Given the description of an element on the screen output the (x, y) to click on. 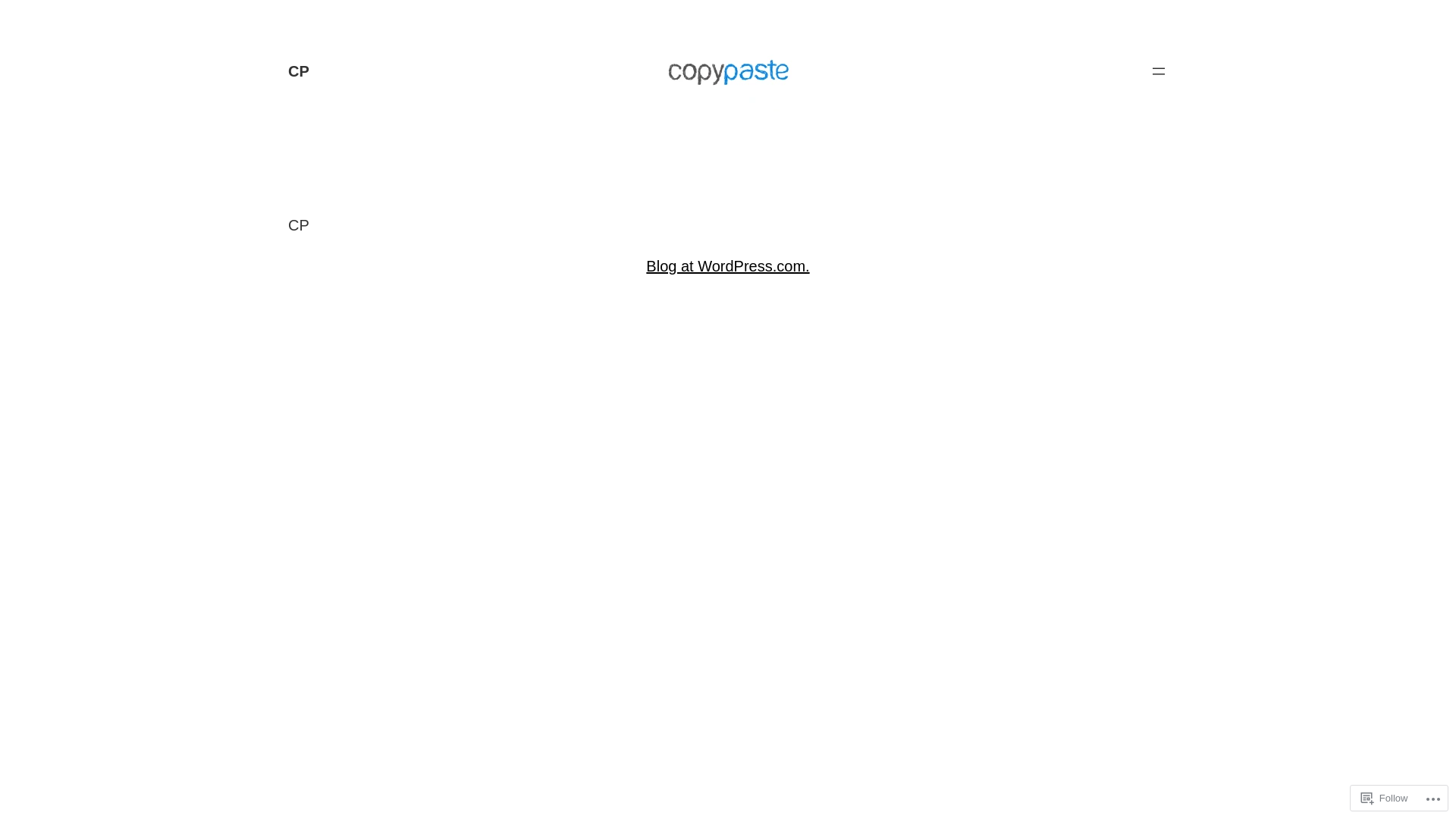
CP Element type: text (298, 70)
CP Element type: text (298, 224)
Blog at WordPress.com. Element type: text (727, 265)
Follow Element type: text (1384, 797)
